Given the description of an element on the screen output the (x, y) to click on. 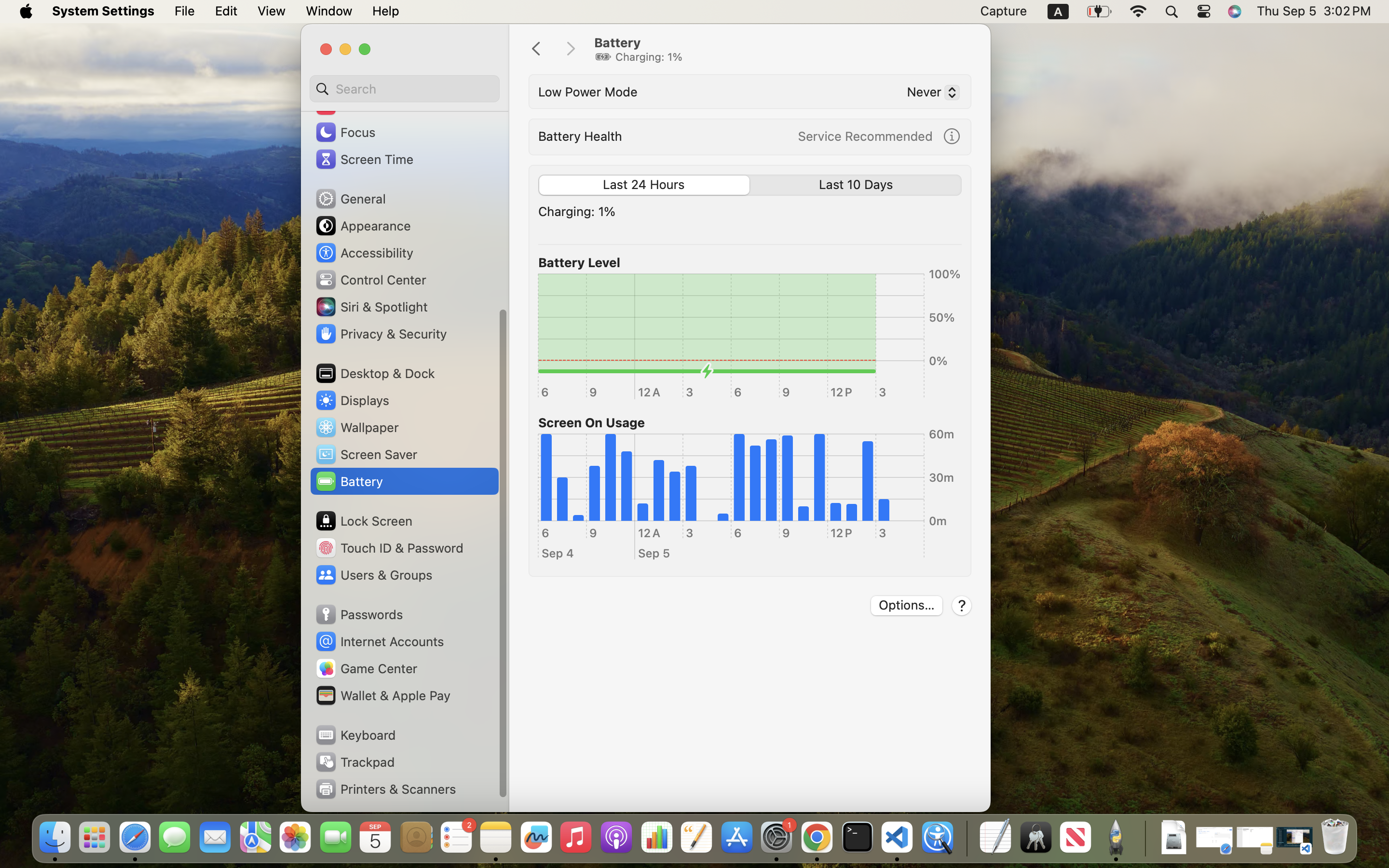
Lock Screen Element type: AXStaticText (363, 520)
￼ Charging: 1% Element type: AXStaticText (638, 56)
Battery Level Element type: AXStaticText (579, 262)
